Given the description of an element on the screen output the (x, y) to click on. 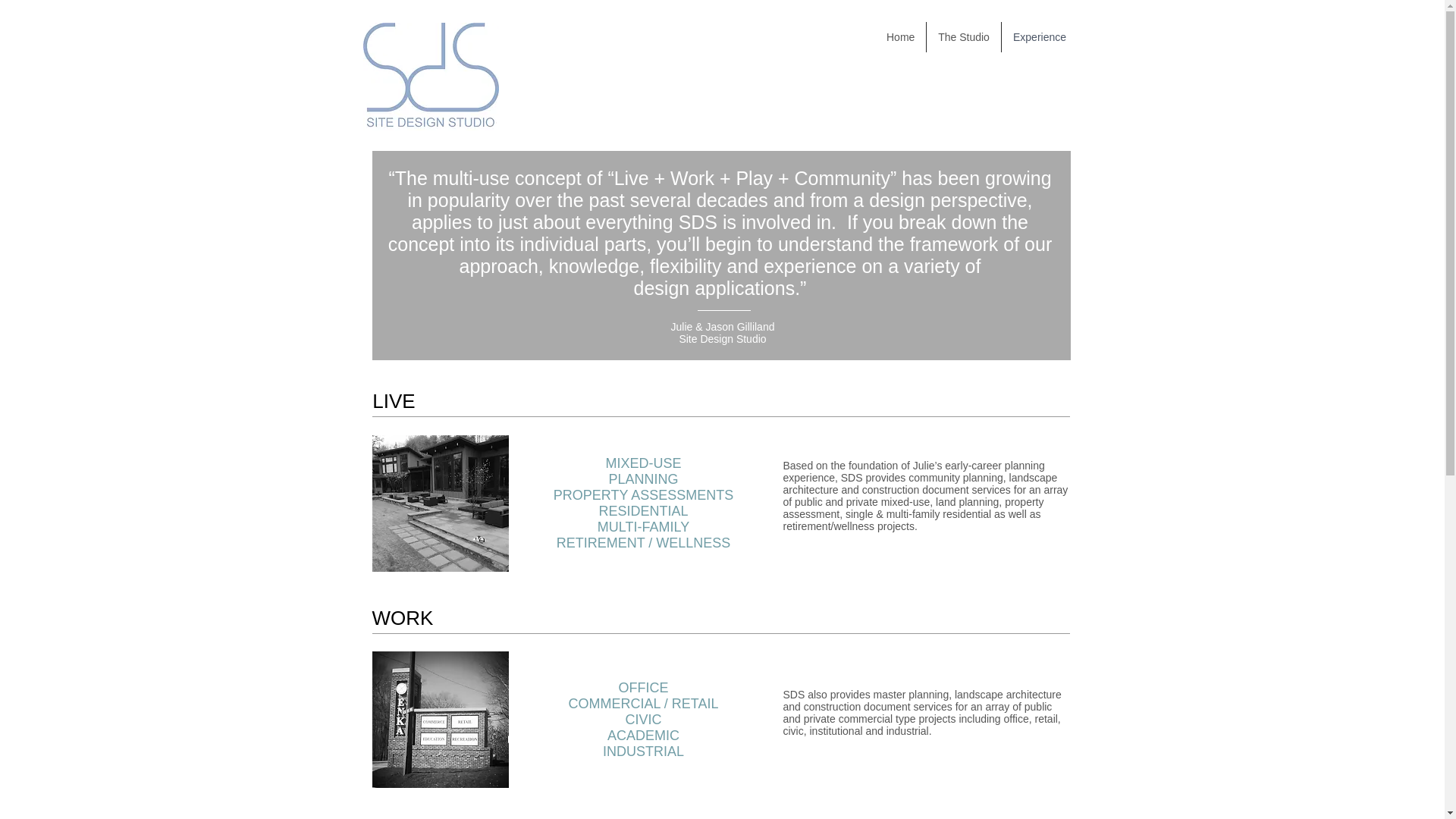
WORK (401, 617)
Experience (1039, 37)
LIVE (392, 400)
The Studio (963, 37)
Enka Sign.jpg (439, 719)
Home (900, 37)
